Given the description of an element on the screen output the (x, y) to click on. 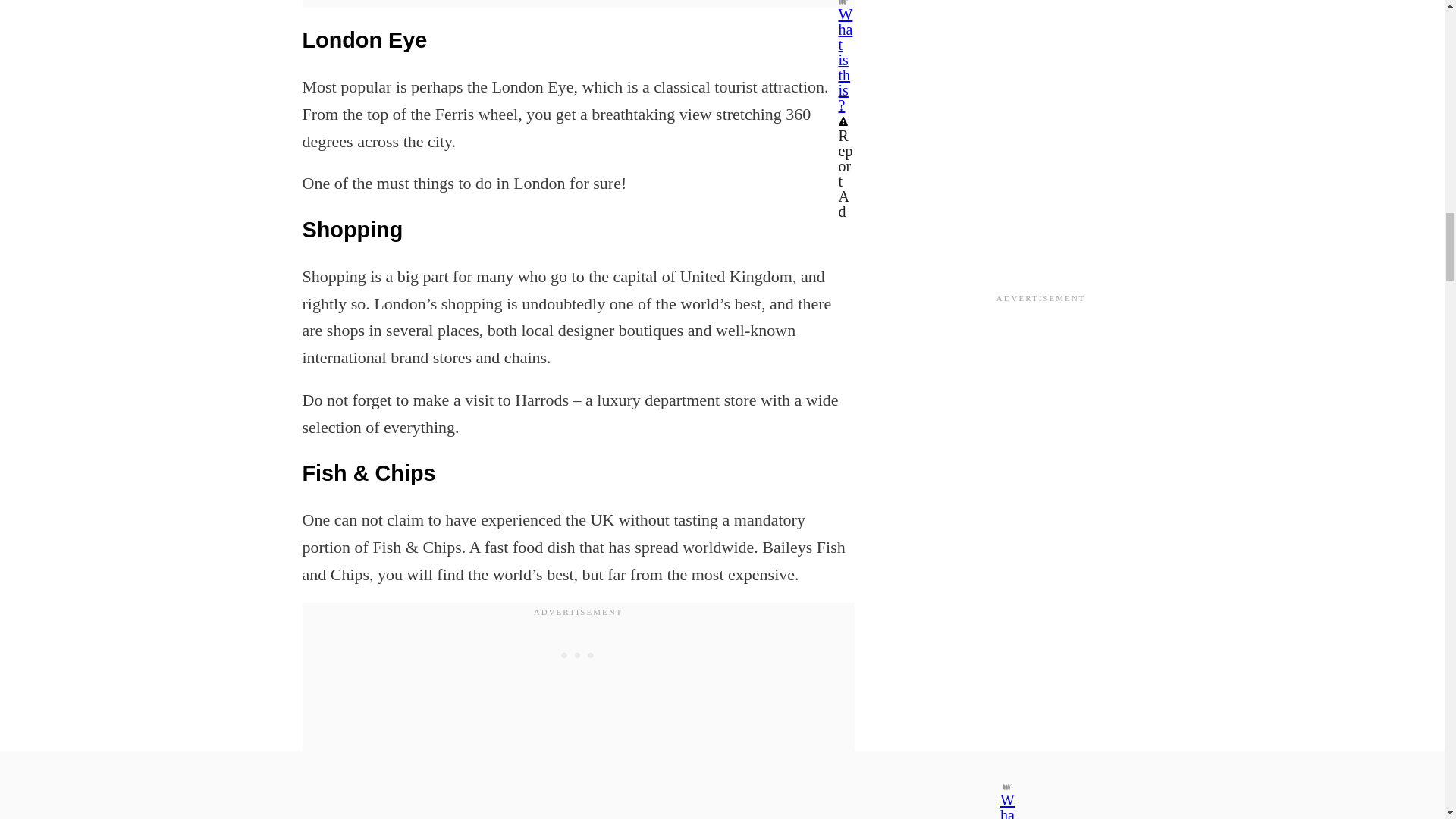
3rd party ad content (577, 654)
